Given the description of an element on the screen output the (x, y) to click on. 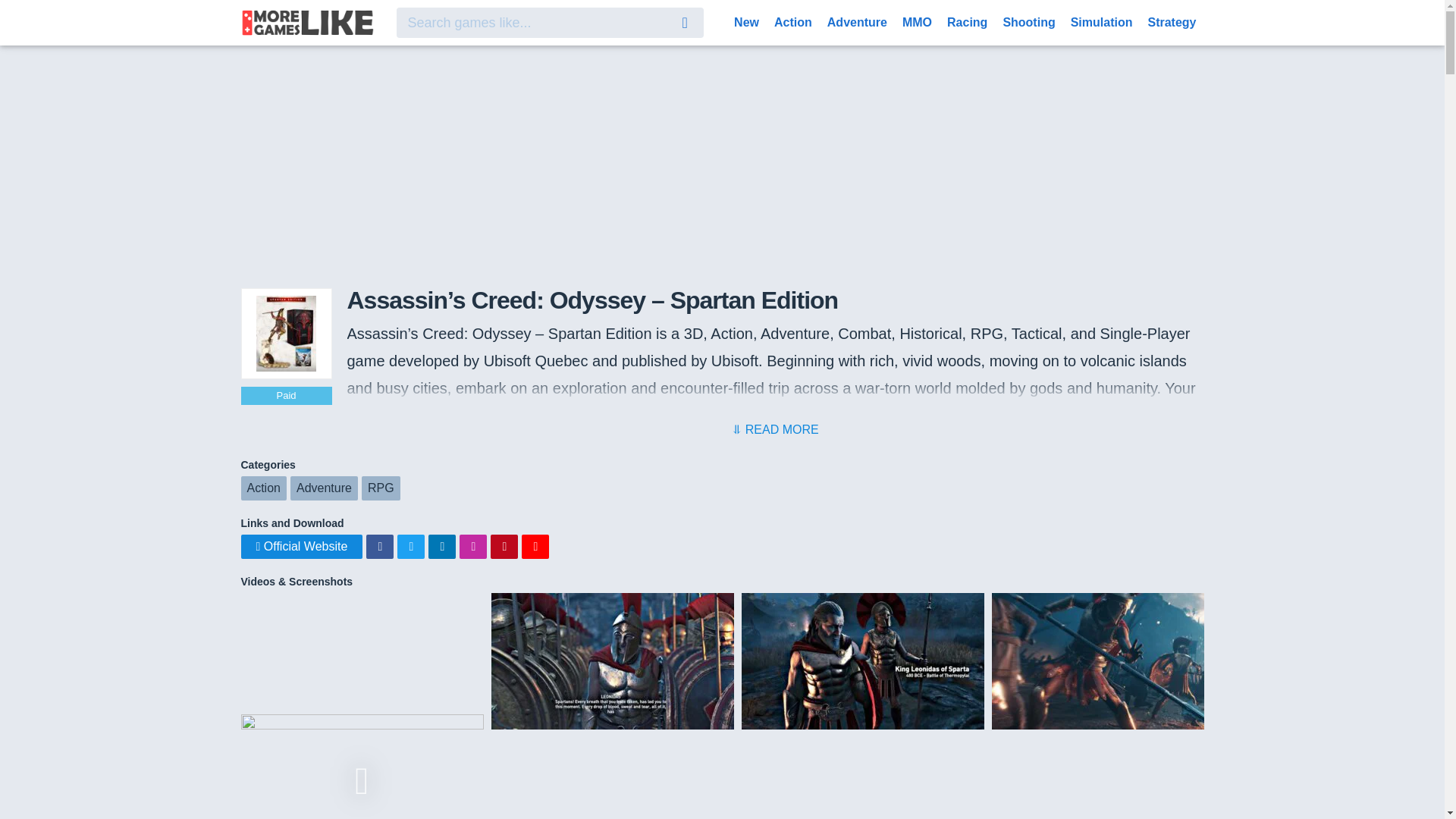
MMO (917, 21)
Adventure (857, 21)
Shooting (1028, 21)
Action (263, 487)
Official Website (301, 546)
Pinterest (504, 546)
Facebook (379, 546)
RPG (380, 487)
Simulation (1101, 21)
Strategy (1172, 21)
